Given the description of an element on the screen output the (x, y) to click on. 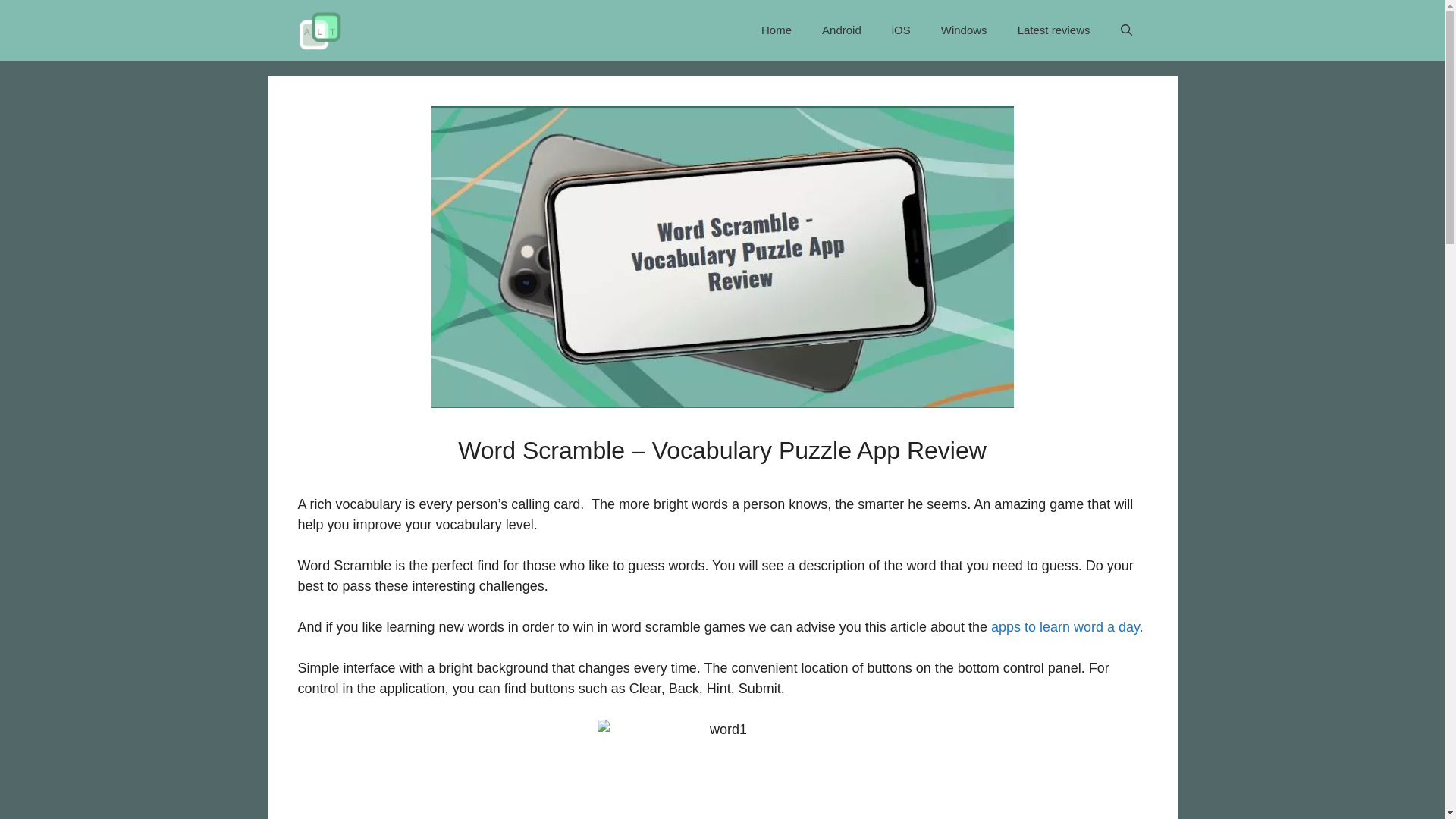
Windows (964, 30)
Latest reviews (1054, 30)
Home (775, 30)
apps to learn word a day. (1066, 626)
iOS (901, 30)
Android (841, 30)
